Given the description of an element on the screen output the (x, y) to click on. 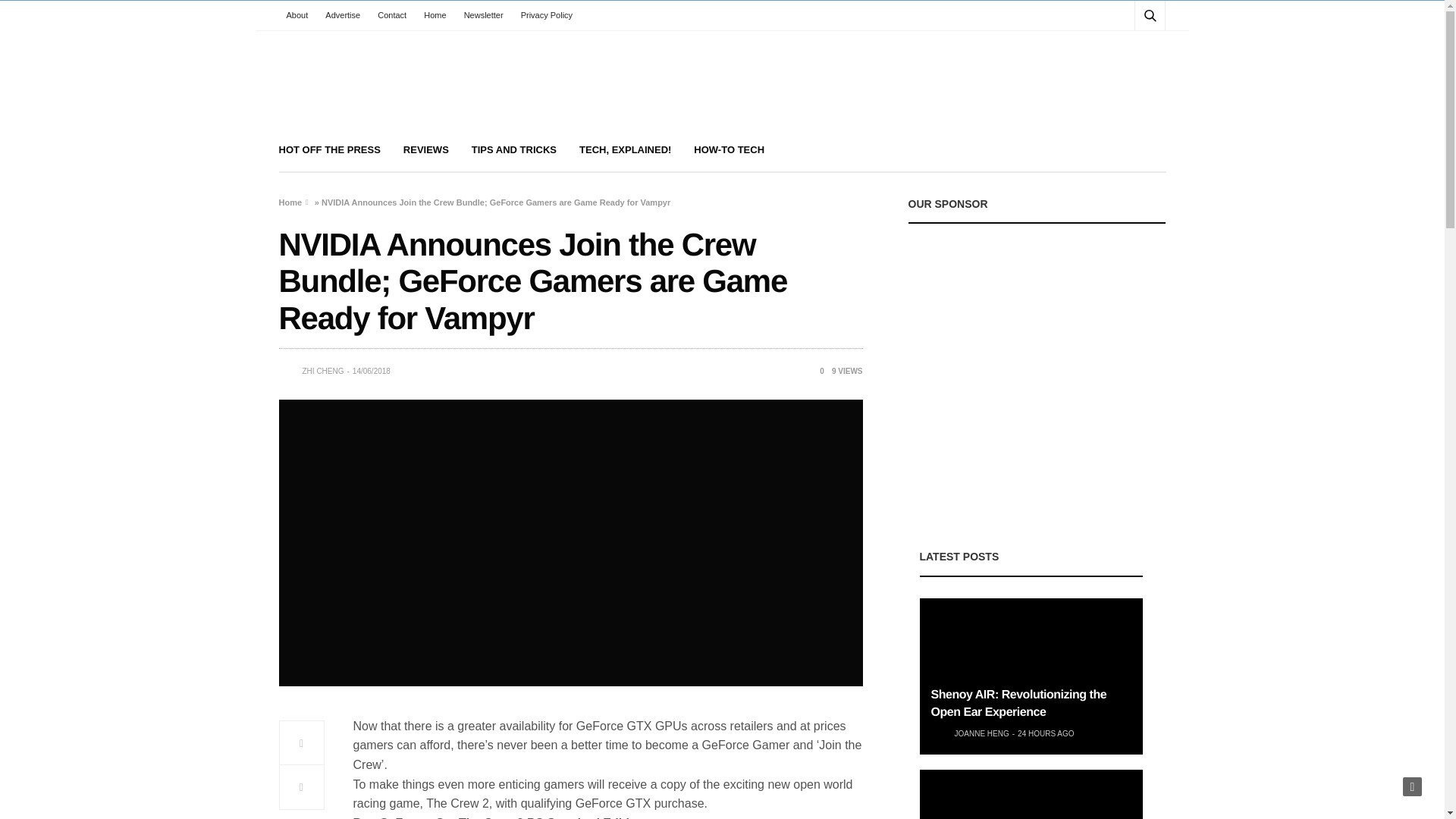
Search (1129, 51)
Home (434, 15)
TECH, EXPLAINED! (625, 150)
Contact (391, 15)
0 (816, 370)
Privacy Policy (546, 15)
TIPS AND TRICKS (513, 150)
ZHI CHENG (322, 371)
Home (290, 202)
